Given the description of an element on the screen output the (x, y) to click on. 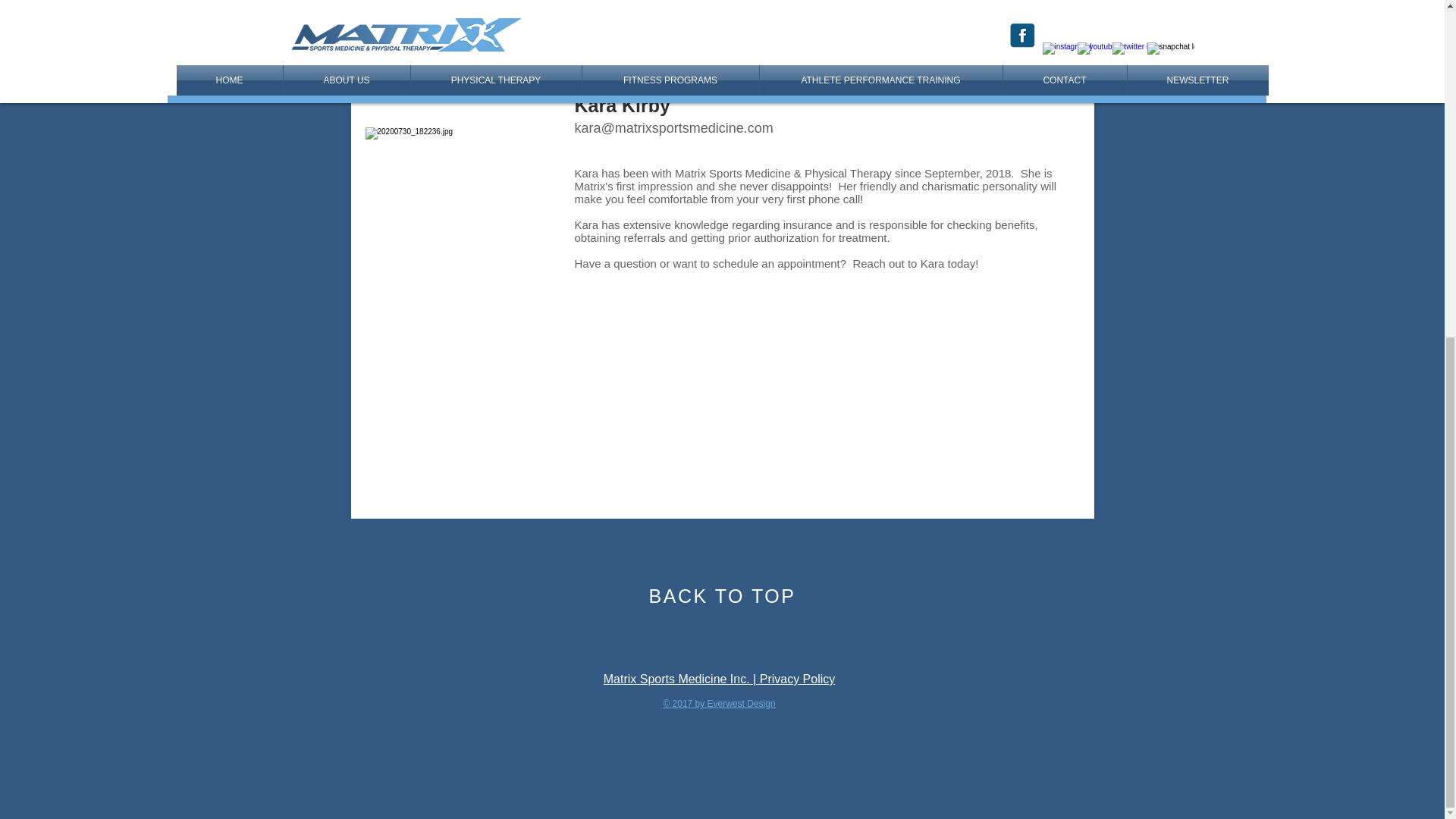
BACK TO TOP (722, 595)
